Given the description of an element on the screen output the (x, y) to click on. 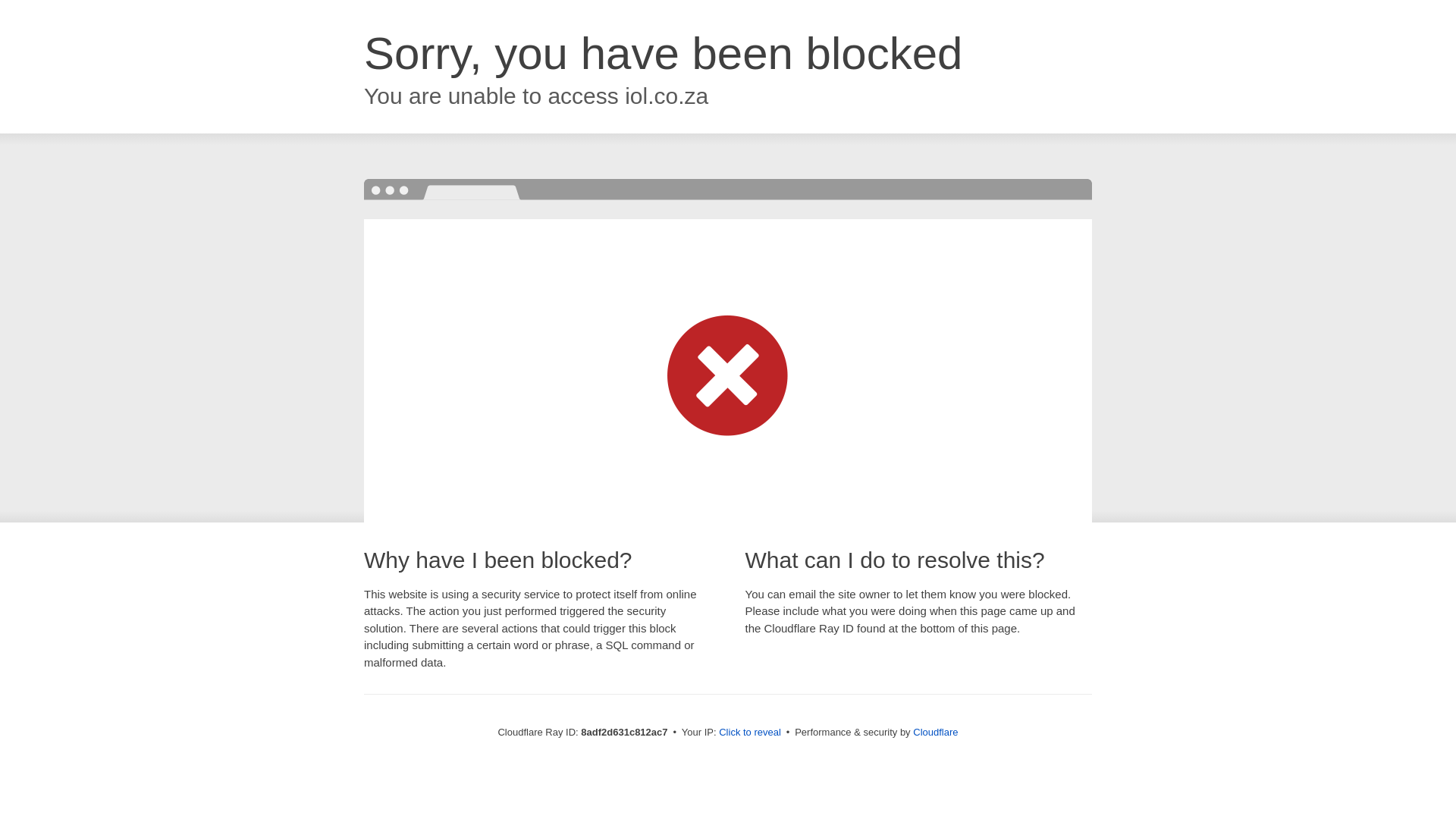
Cloudflare (935, 731)
Click to reveal (749, 732)
